Given the description of an element on the screen output the (x, y) to click on. 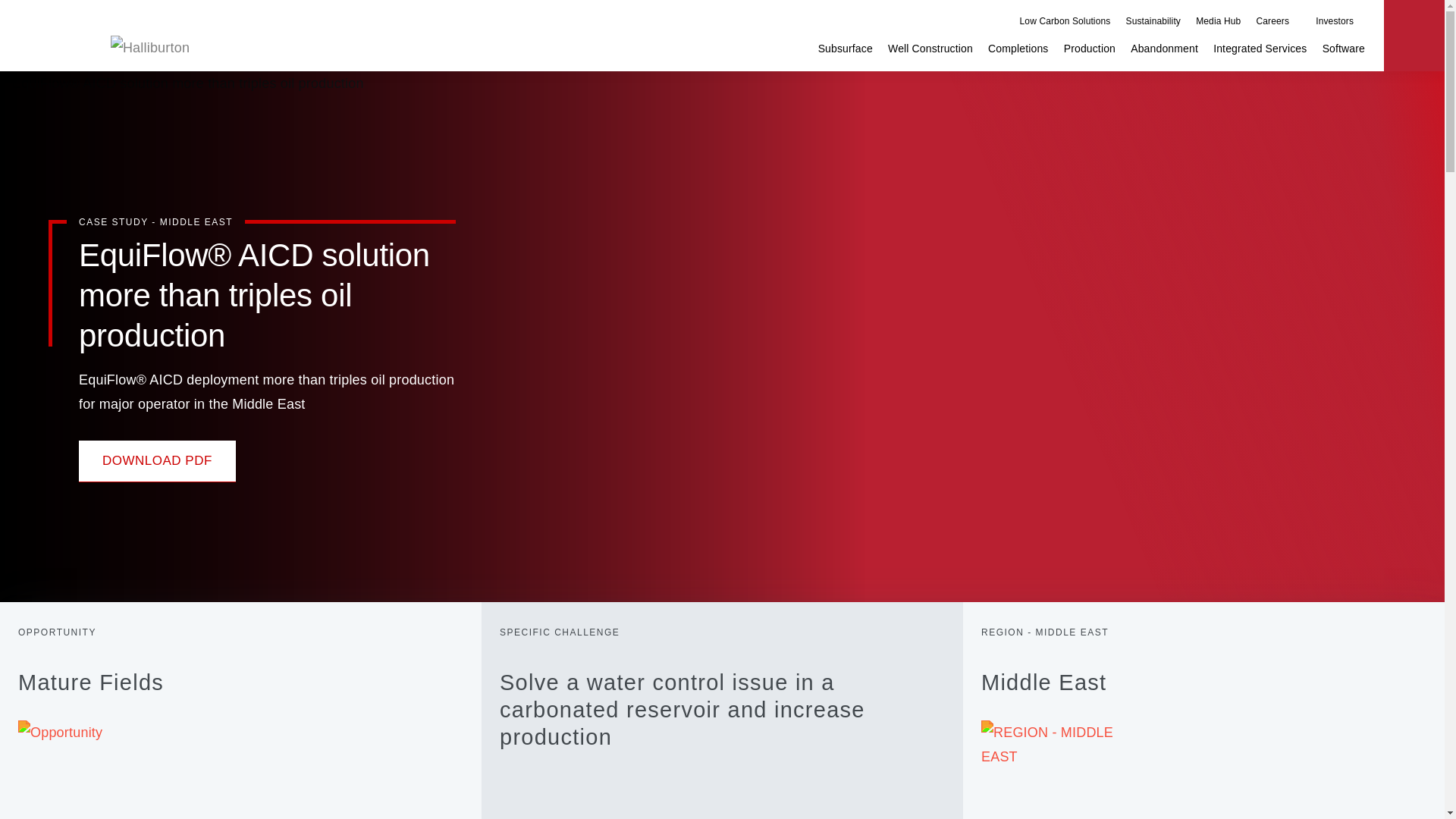
Subsurface (845, 48)
Download PDF (156, 460)
